Given the description of an element on the screen output the (x, y) to click on. 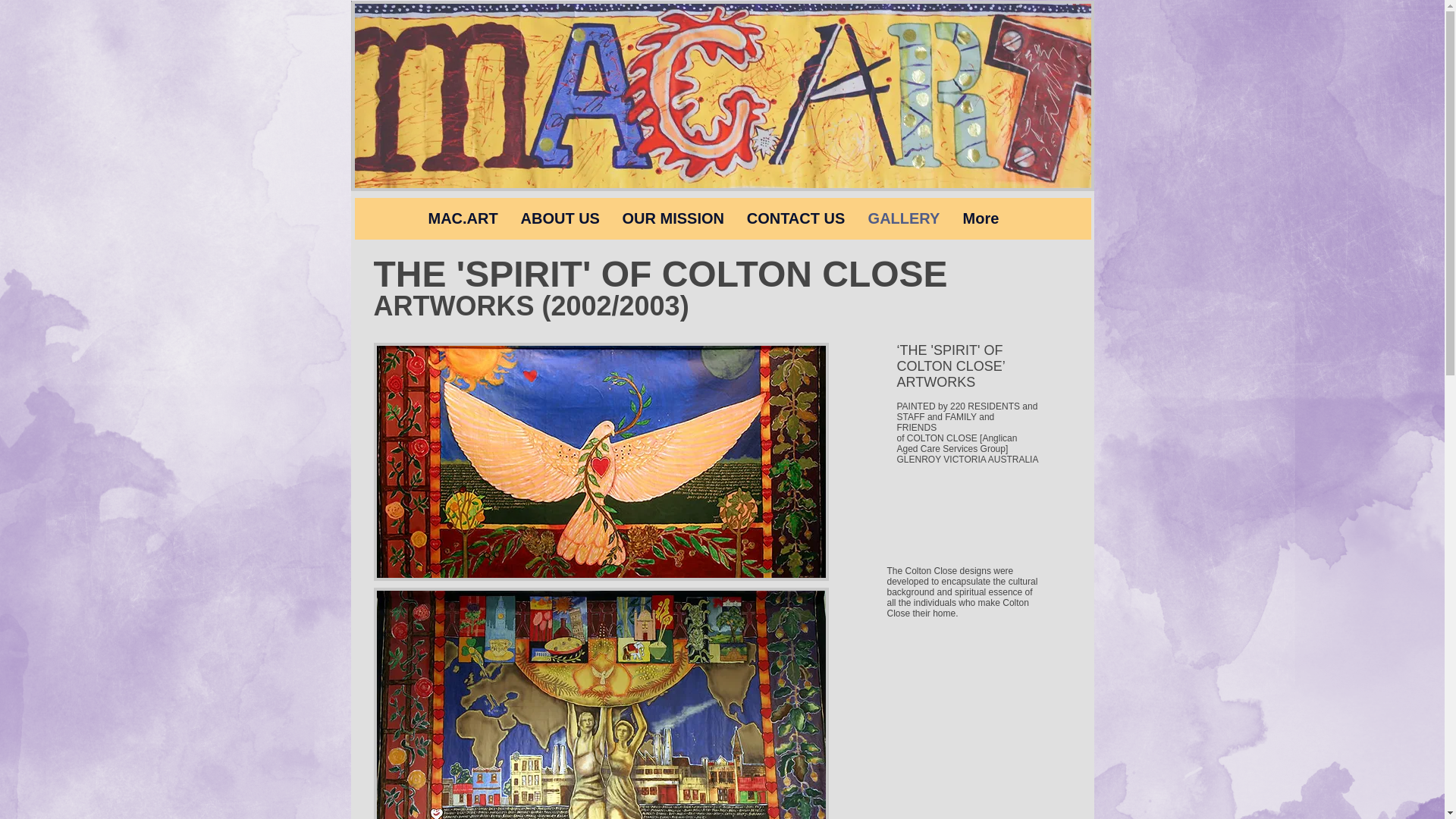
IMG_5872 (1).jpg Element type: hover (722, 95)
GALLERY Element type: text (903, 218)
CONTACT US Element type: text (795, 218)
MAC.ART Element type: text (463, 218)
OUR MISSION Element type: text (673, 218)
ABOUT US Element type: text (560, 218)
